Given the description of an element on the screen output the (x, y) to click on. 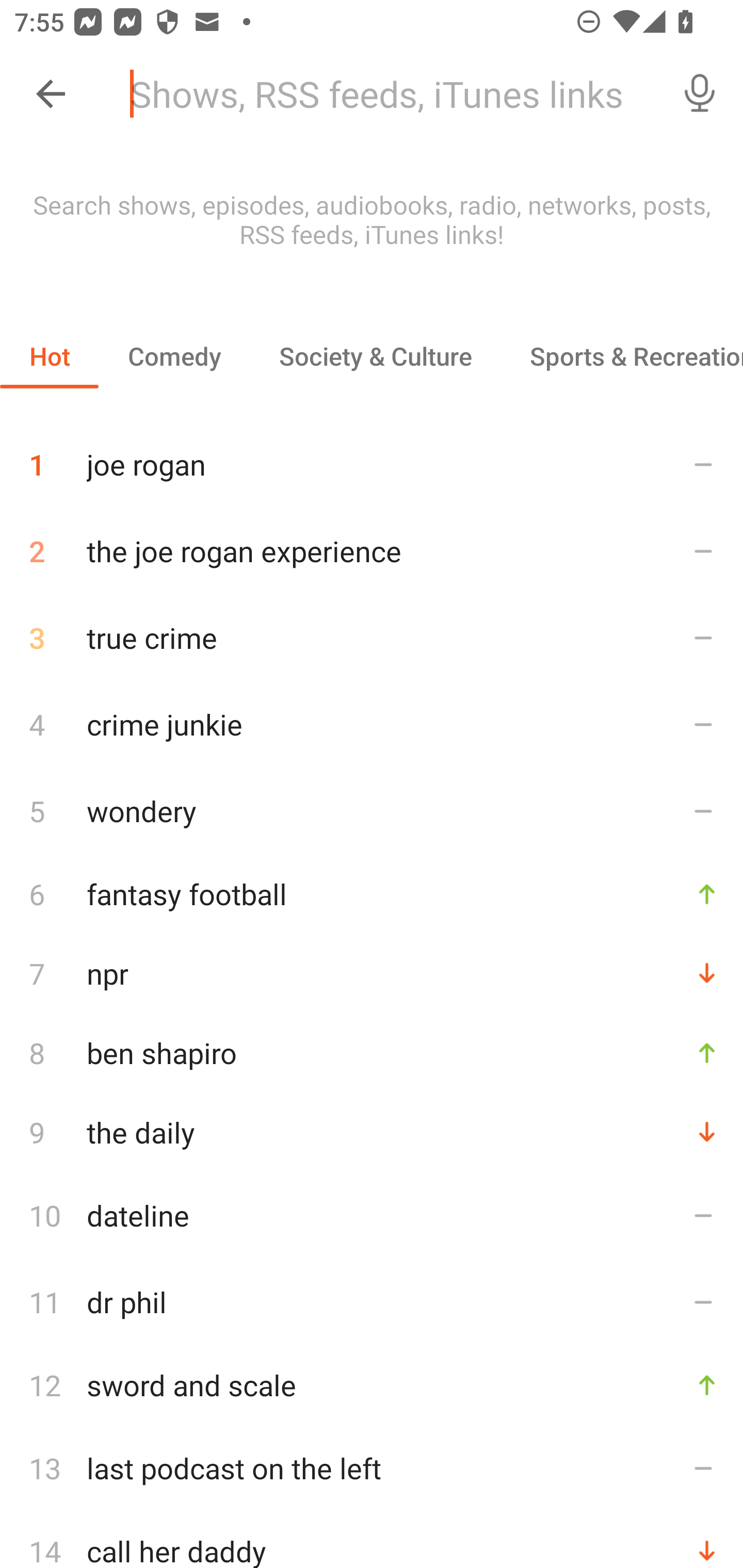
Collapse (50, 93)
Voice Search (699, 93)
Shows, RSS feeds, iTunes links (385, 94)
Hot (49, 355)
Comedy (173, 355)
Society & Culture (374, 355)
Sports & Recreation (621, 355)
1 joe rogan (371, 457)
2 the joe rogan experience (371, 551)
3 true crime (371, 637)
4 crime junkie (371, 723)
5 wondery (371, 810)
6 fantasy football (371, 893)
7 npr (371, 972)
8 ben shapiro (371, 1052)
9 the daily (371, 1131)
10 dateline (371, 1215)
11 dr phil (371, 1302)
12 sword and scale (371, 1385)
13 last podcast on the left (371, 1468)
14 call her daddy (371, 1539)
